Given the description of an element on the screen output the (x, y) to click on. 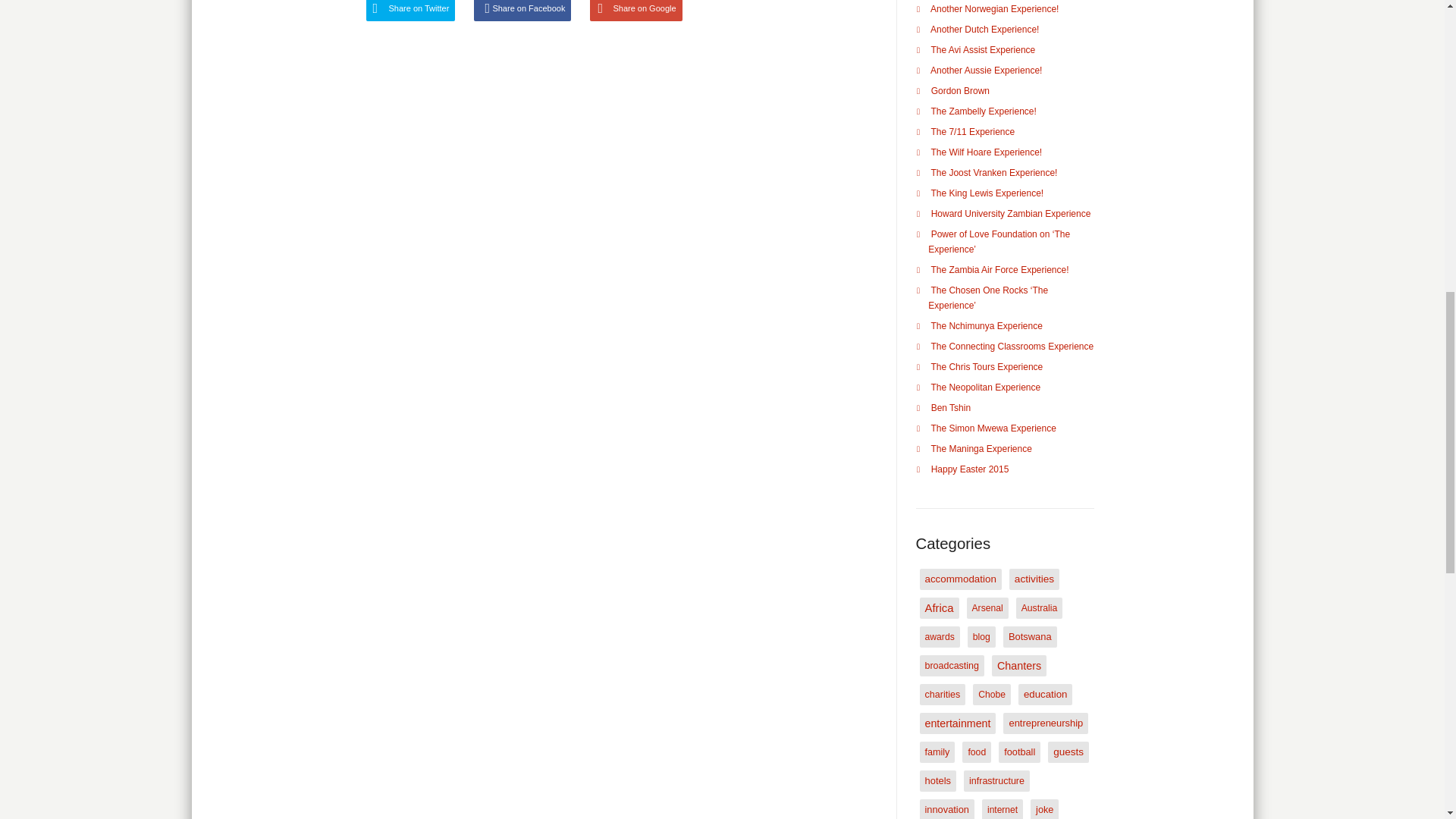
Share on Twitter (409, 10)
Share on Google (635, 10)
Share on Facebook (522, 10)
